Given the description of an element on the screen output the (x, y) to click on. 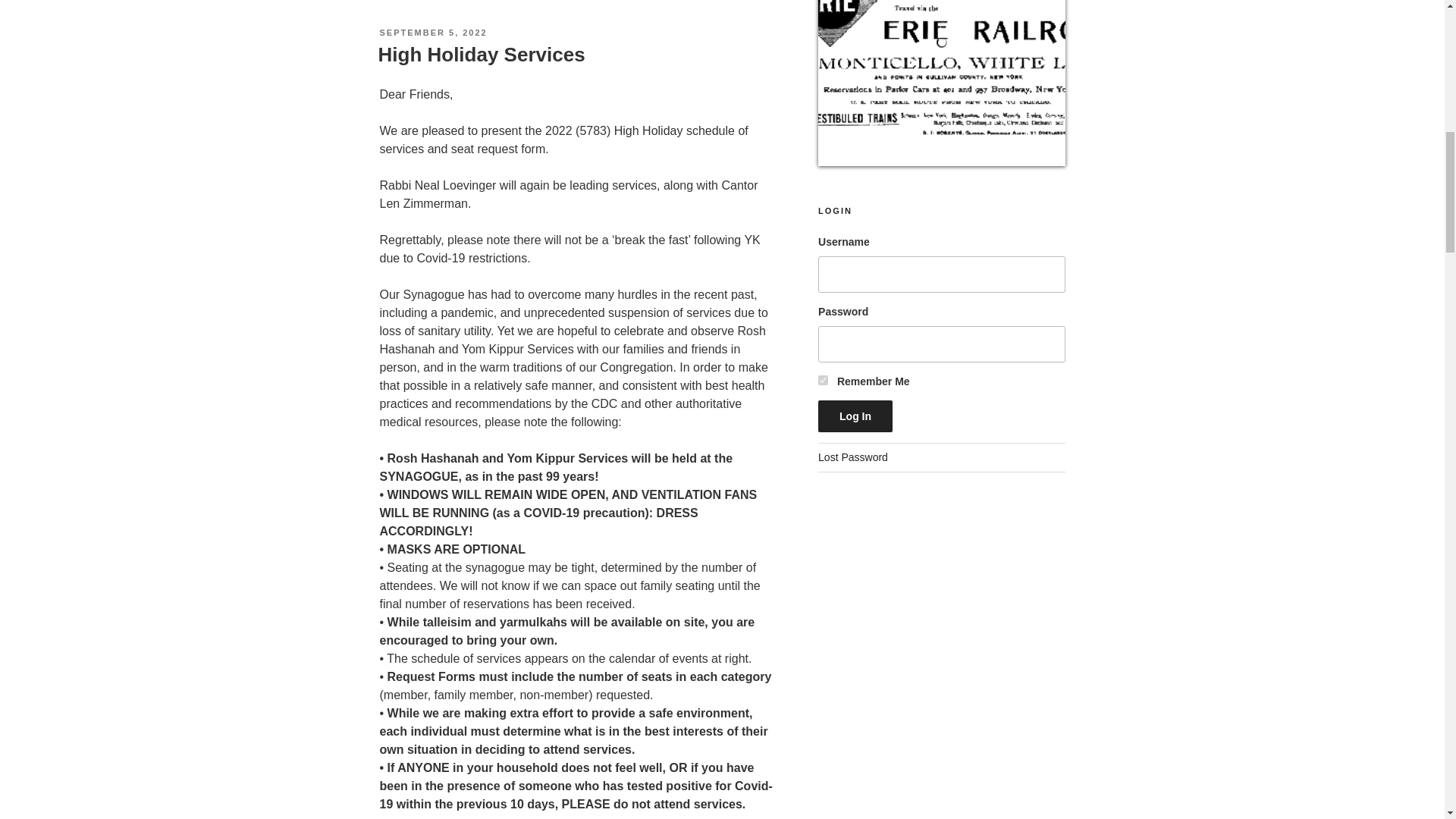
SEPTEMBER 5, 2022 (432, 31)
Lost Password (853, 457)
forever (823, 379)
High Holiday Services (481, 54)
Log In (855, 416)
Log In (855, 416)
